Given the description of an element on the screen output the (x, y) to click on. 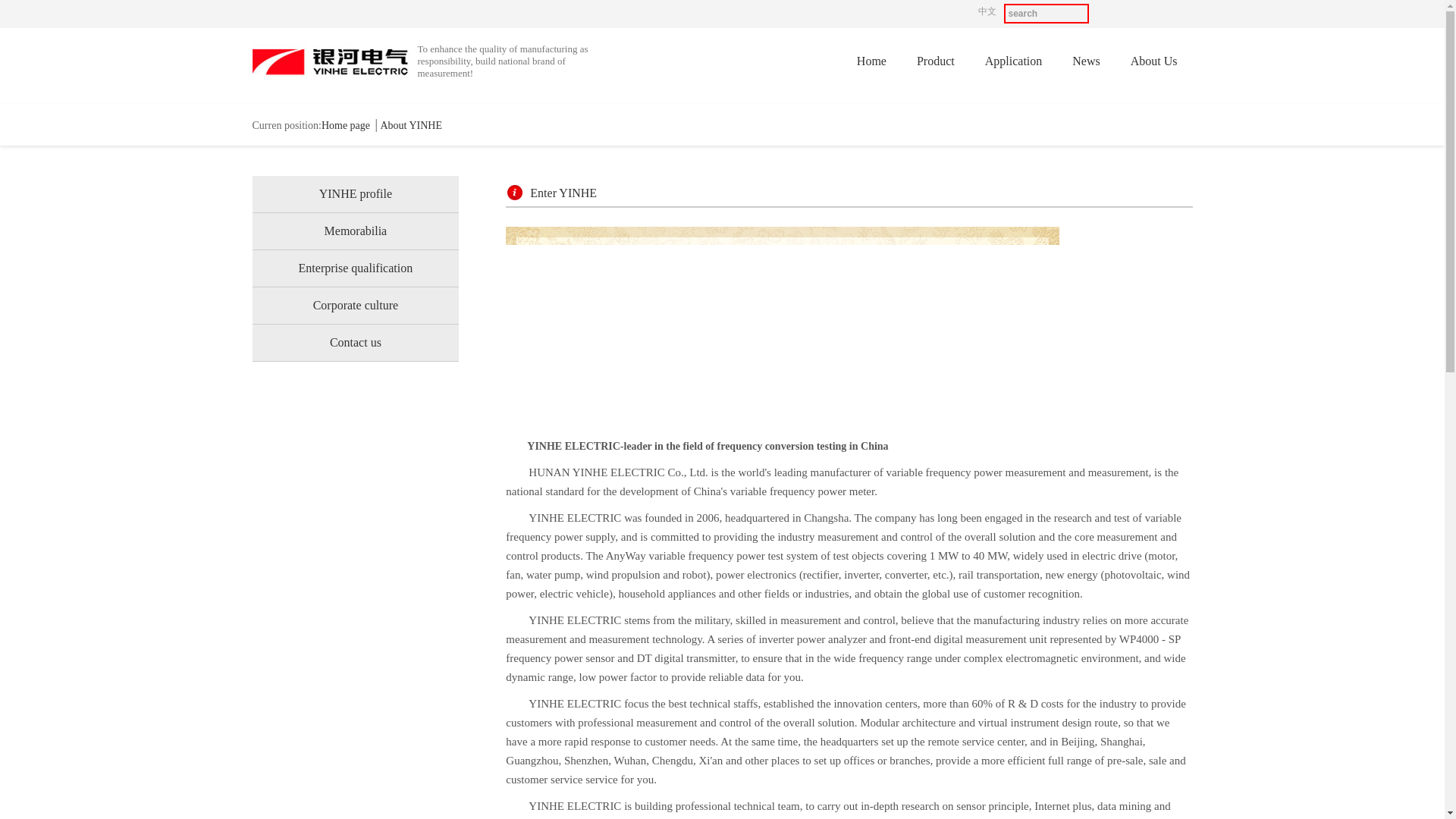
Enterprise qualification (354, 268)
About Us (1153, 60)
News (1086, 60)
search (1046, 13)
YINHE's dream to be China's core (782, 321)
Home (871, 60)
About YINHE (411, 125)
YINHE profile (354, 194)
Enter YINHE (562, 192)
Application (1013, 60)
